Given the description of an element on the screen output the (x, y) to click on. 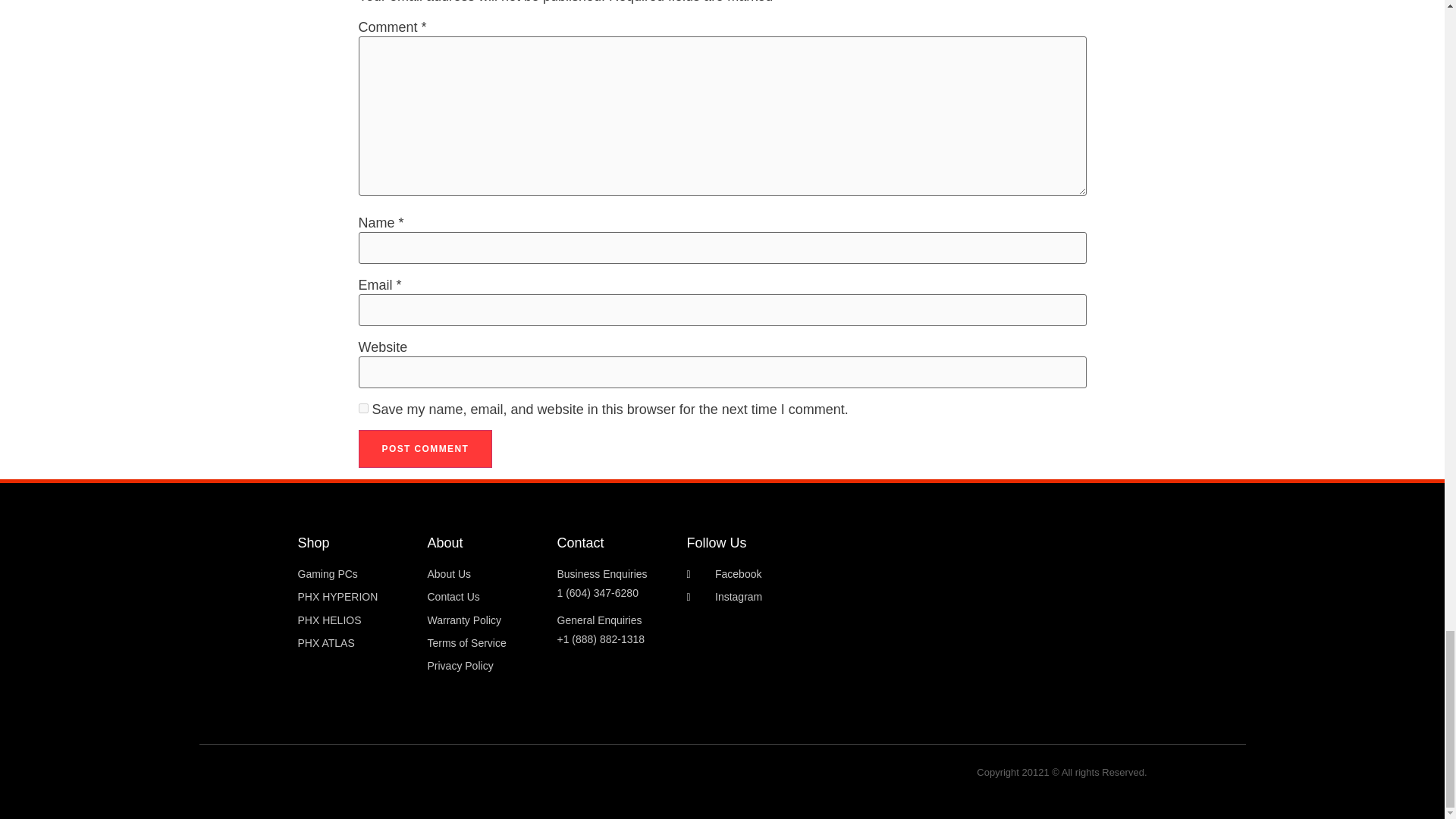
Post Comment (425, 448)
About Us (484, 574)
yes (363, 408)
PHX ATLAS (354, 642)
Contact Us (484, 597)
PHX HYPERION (354, 597)
Post Comment (425, 448)
PHX HELIOS (354, 619)
Gaming PCs (354, 574)
Warranty Policy (484, 619)
Instagram (805, 597)
Privacy Policy (484, 665)
Terms of Service (484, 642)
Facebook (805, 574)
